Given the description of an element on the screen output the (x, y) to click on. 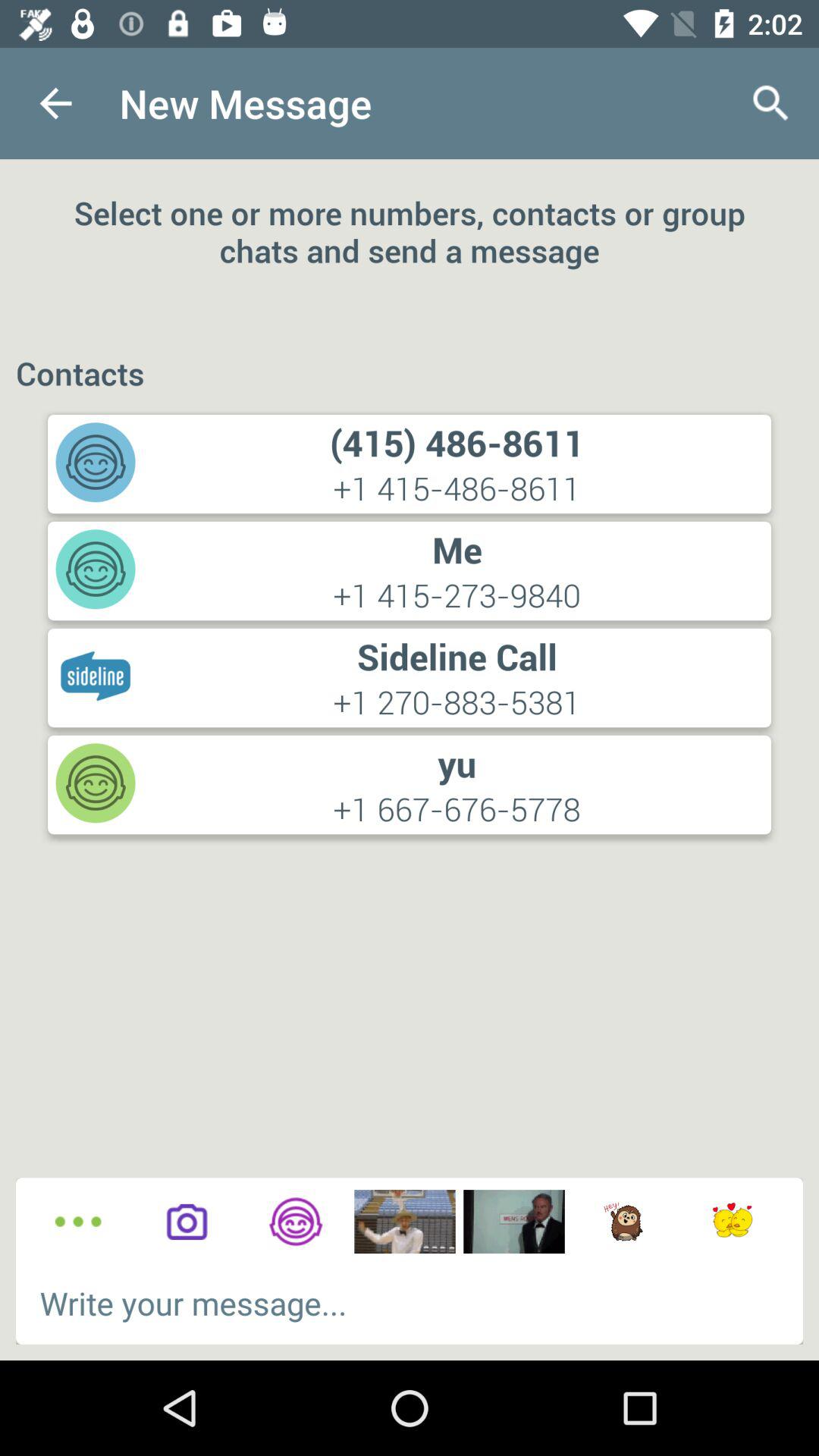
add gif (732, 1221)
